Given the description of an element on the screen output the (x, y) to click on. 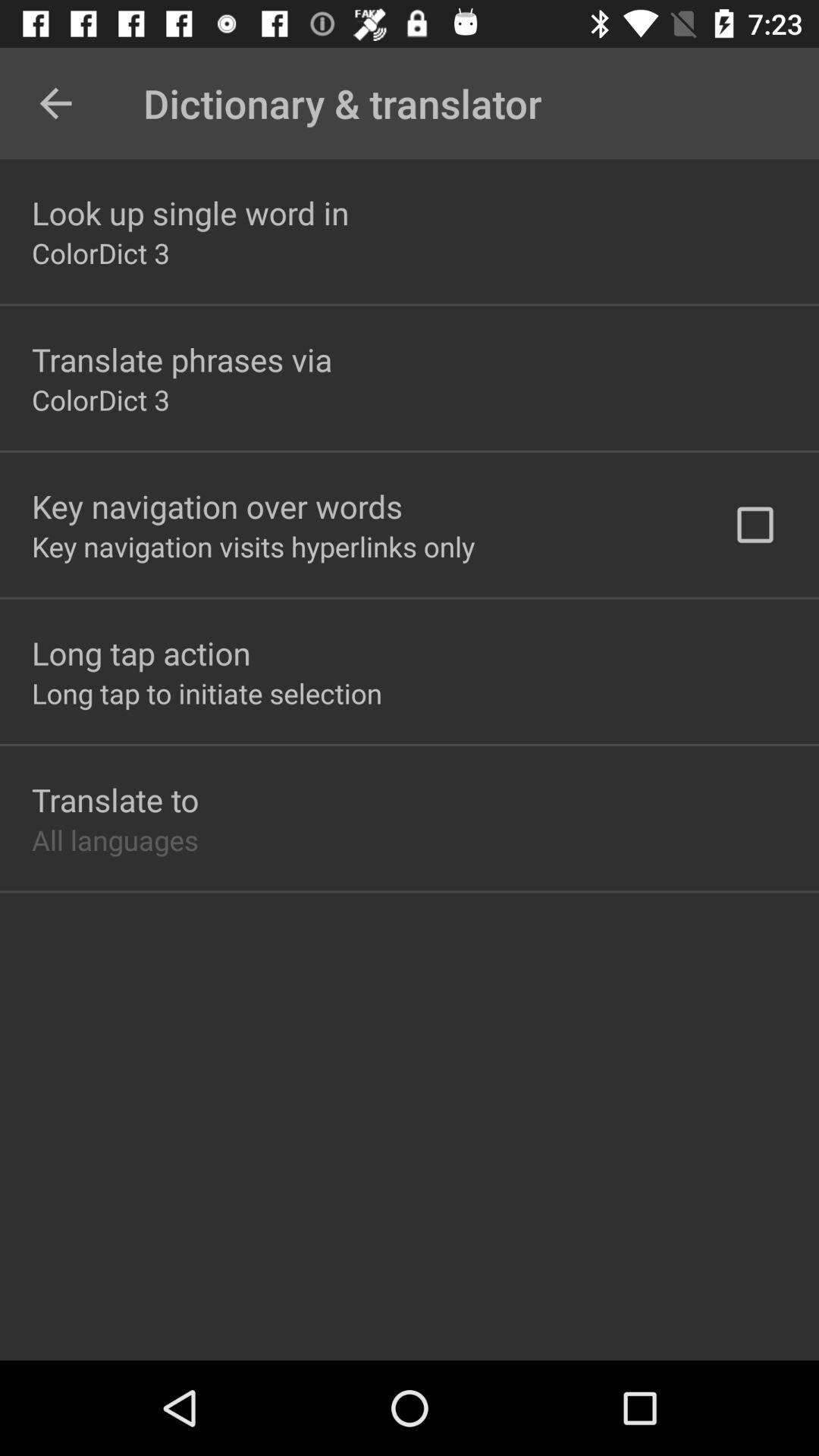
flip to look up single (190, 212)
